Given the description of an element on the screen output the (x, y) to click on. 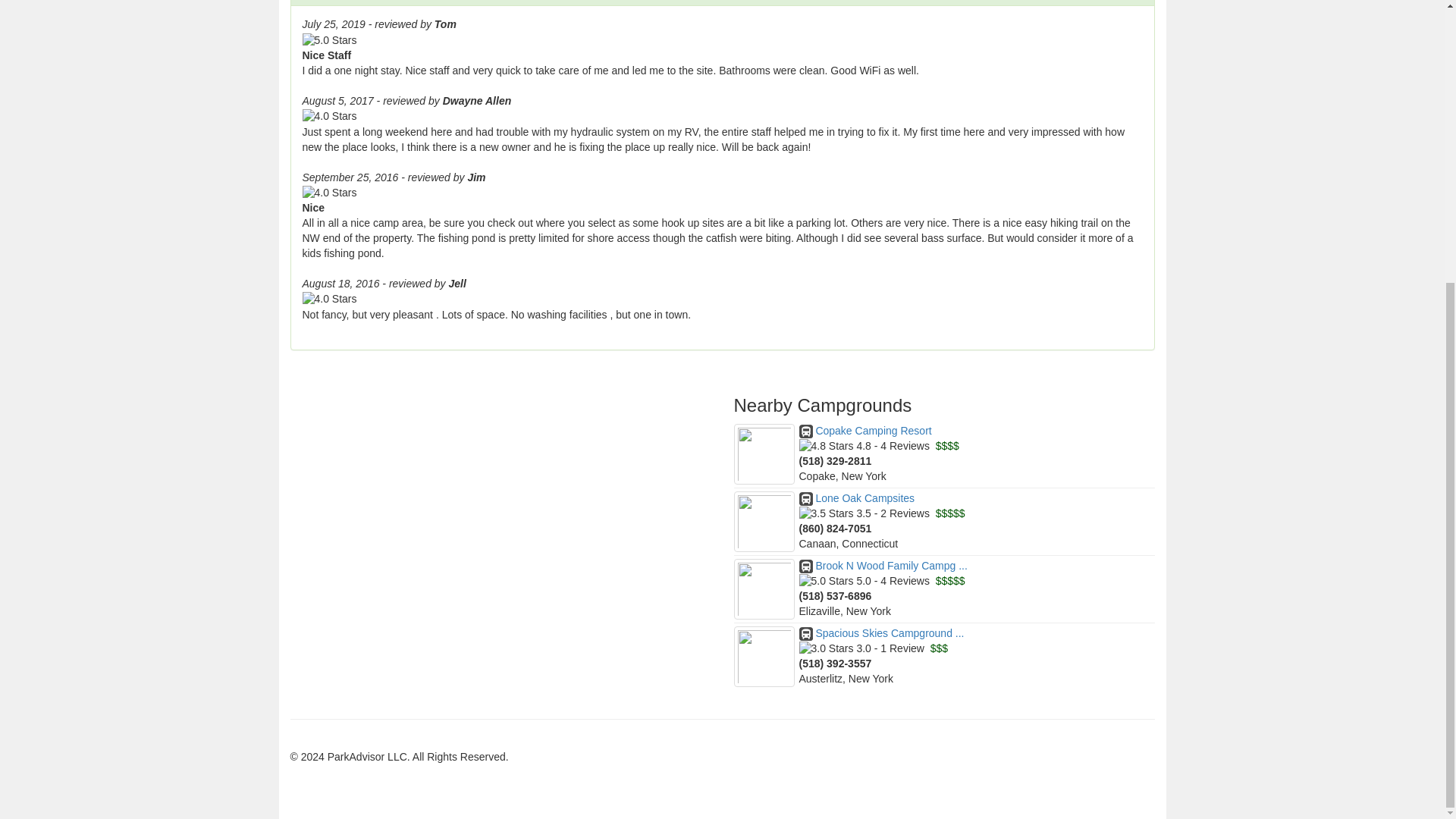
 Lone Oak Campsites (857, 498)
 Copake Camping Resort (865, 430)
 Spacious Skies Campground ... (881, 633)
 Brook N Wood Family Campg ... (883, 565)
